Given the description of an element on the screen output the (x, y) to click on. 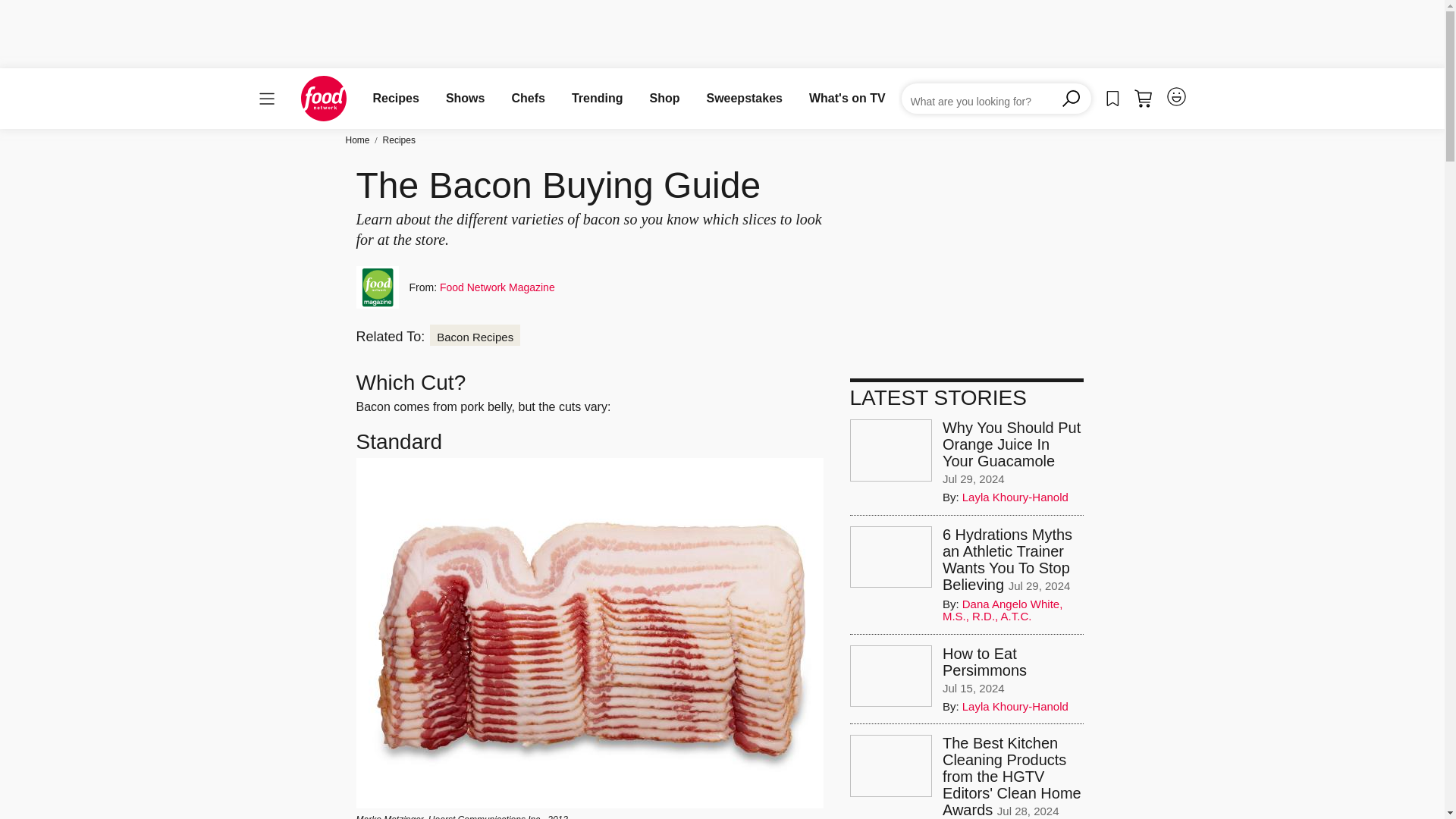
home (322, 98)
Shows (464, 97)
Recipes (395, 97)
